Given the description of an element on the screen output the (x, y) to click on. 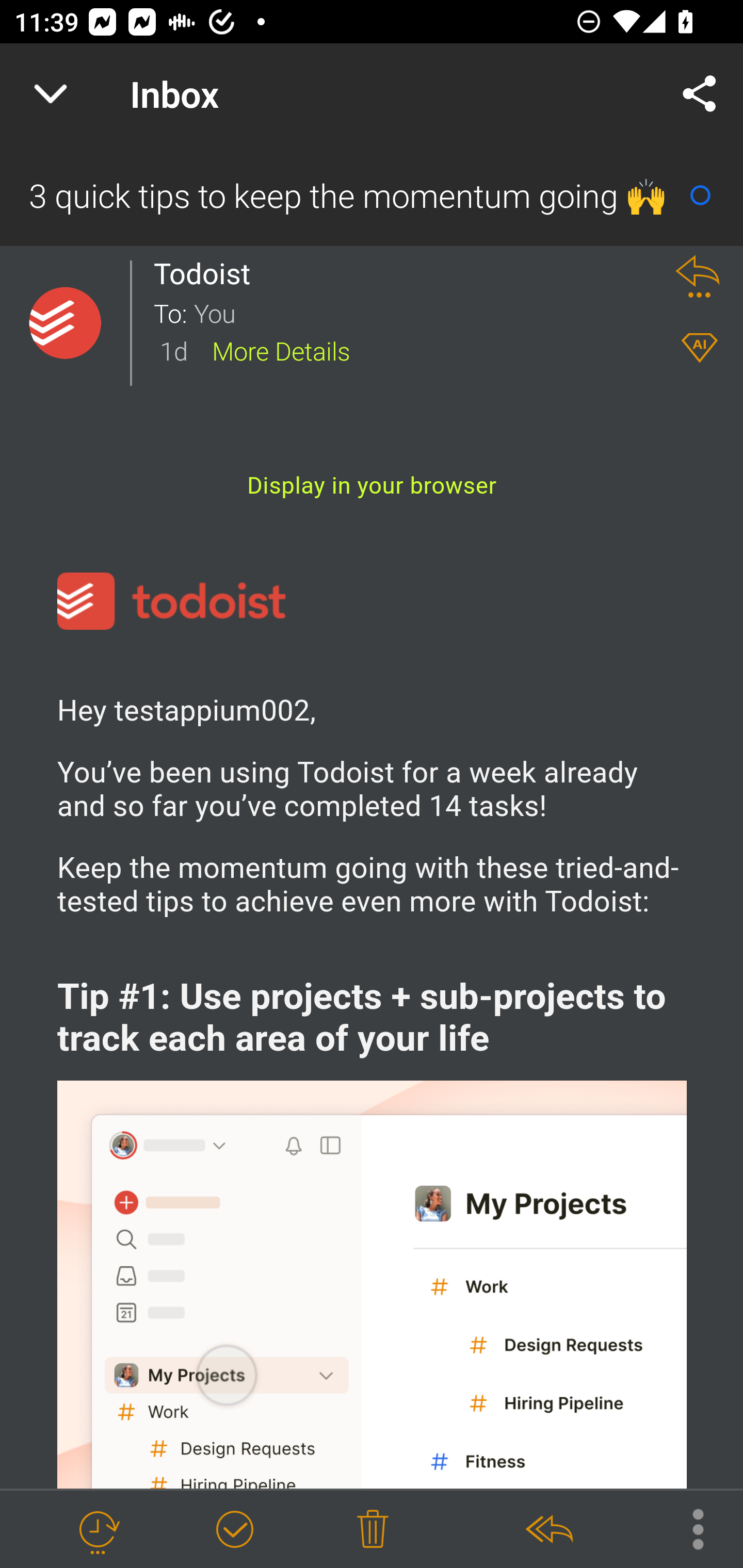
Navigate up (50, 93)
Share (699, 93)
Mark as Read (699, 194)
Todoist (207, 273)
Contact Details (64, 322)
You (422, 311)
More Details (280, 349)
Display in your browser (371, 485)
More Options (687, 1528)
Snooze (97, 1529)
Mark as Done (234, 1529)
Delete (372, 1529)
Reply All (548, 1529)
